Given the description of an element on the screen output the (x, y) to click on. 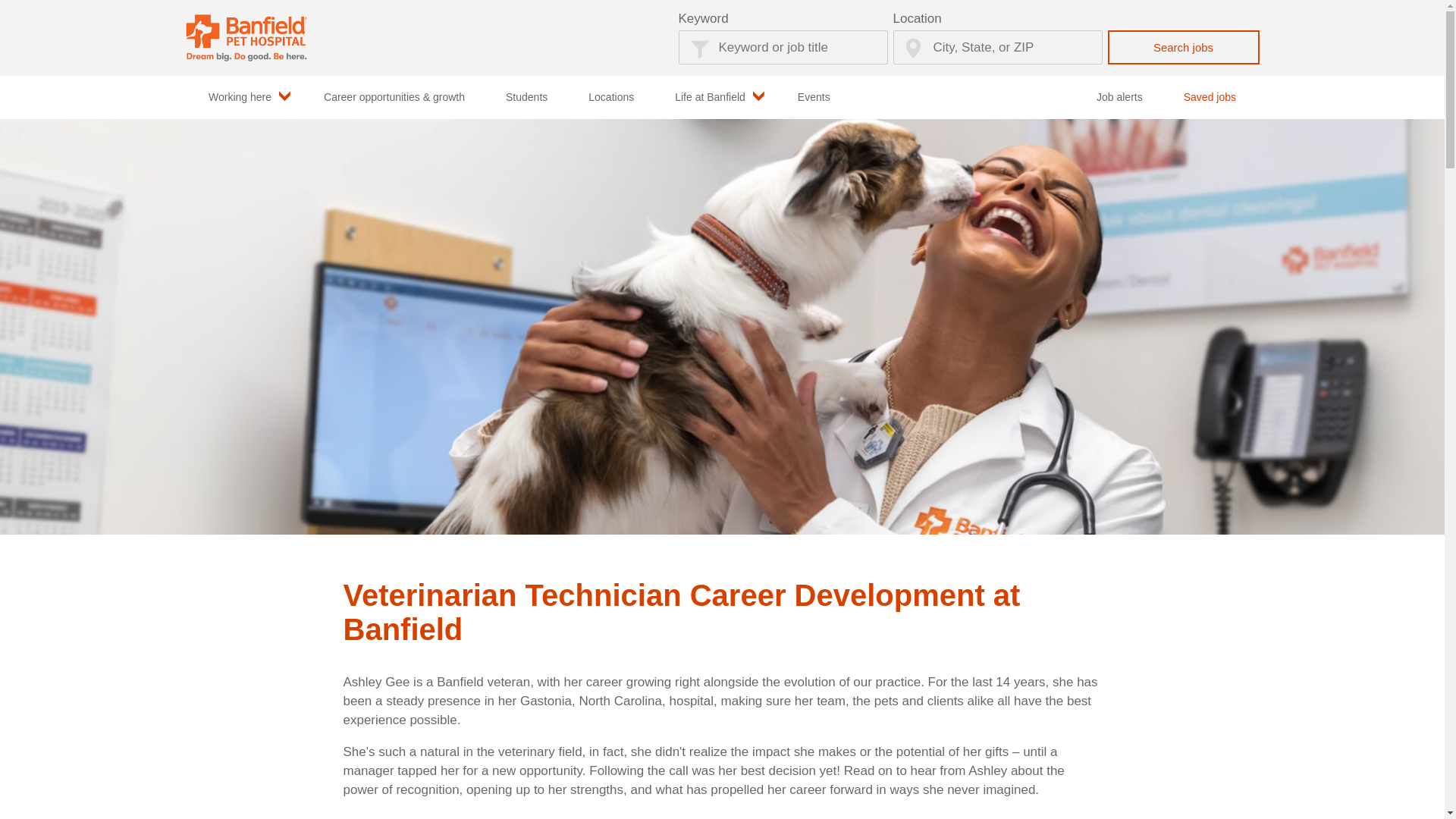
Events (813, 96)
Locations (610, 96)
Students (526, 96)
Working here (245, 97)
Saved jobs (1209, 96)
Job alerts (1119, 96)
Life at Banfield (716, 97)
Search jobs (1182, 47)
